Given the description of an element on the screen output the (x, y) to click on. 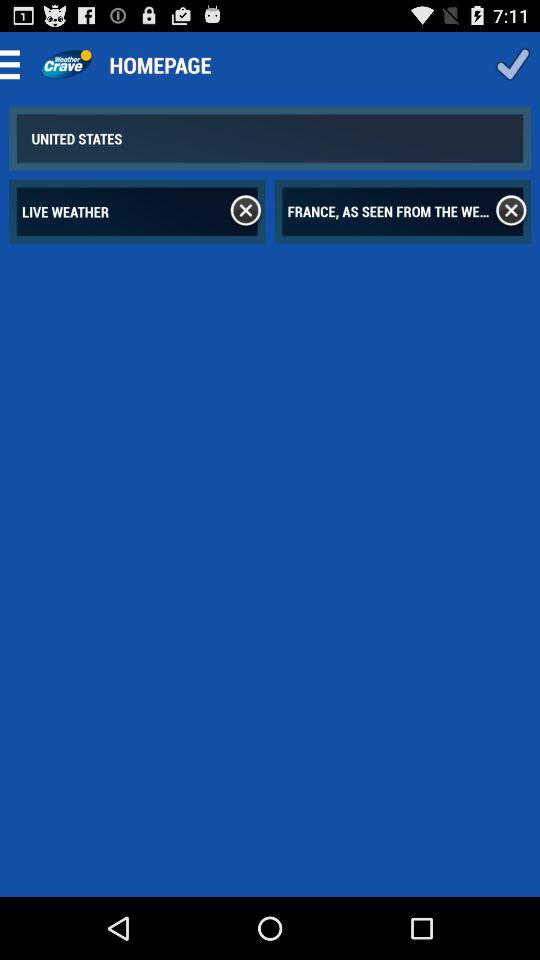
select item to the left of the homepage icon (65, 64)
